Given the description of an element on the screen output the (x, y) to click on. 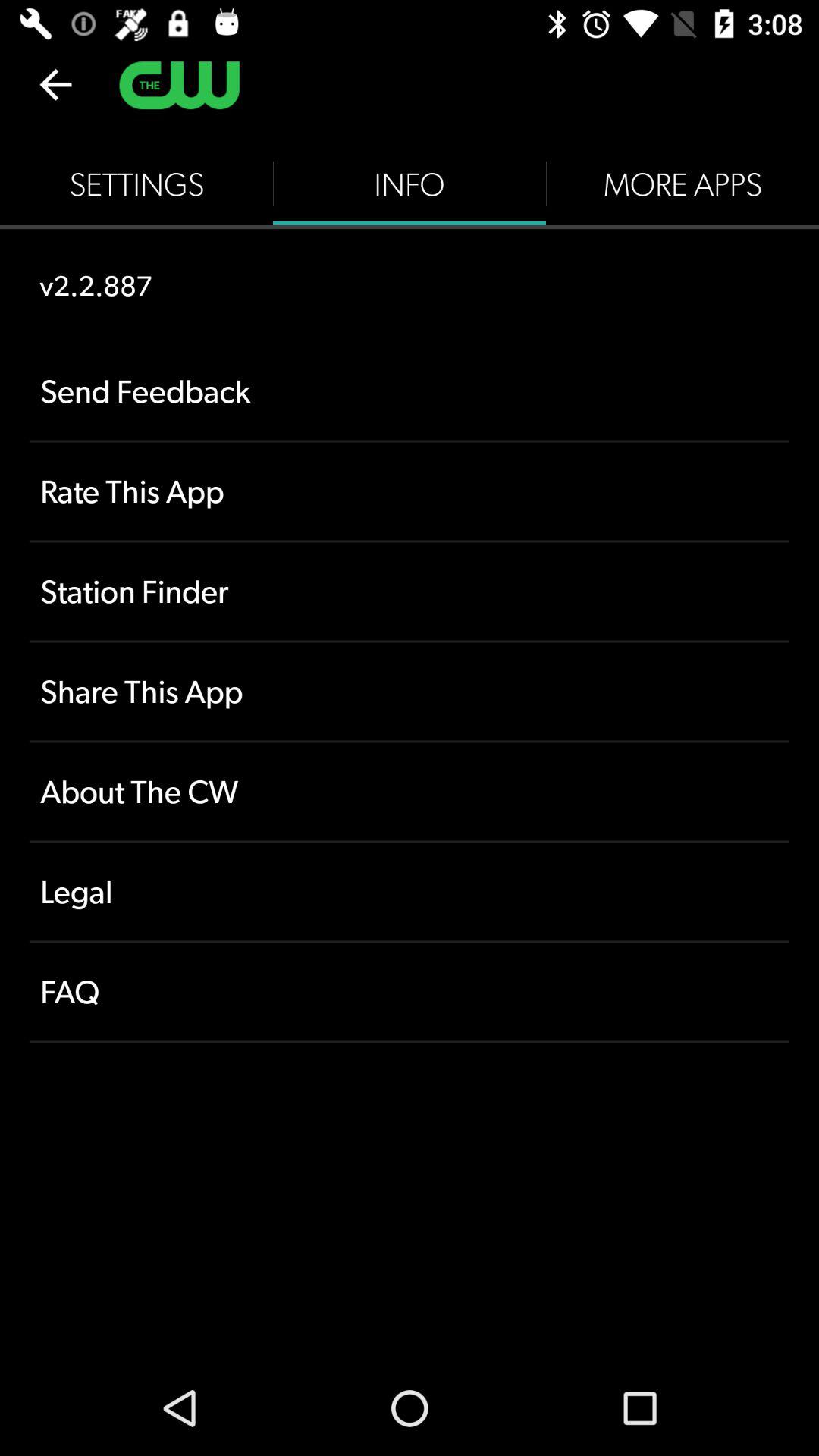
tap icon above faq icon (409, 891)
